Given the description of an element on the screen output the (x, y) to click on. 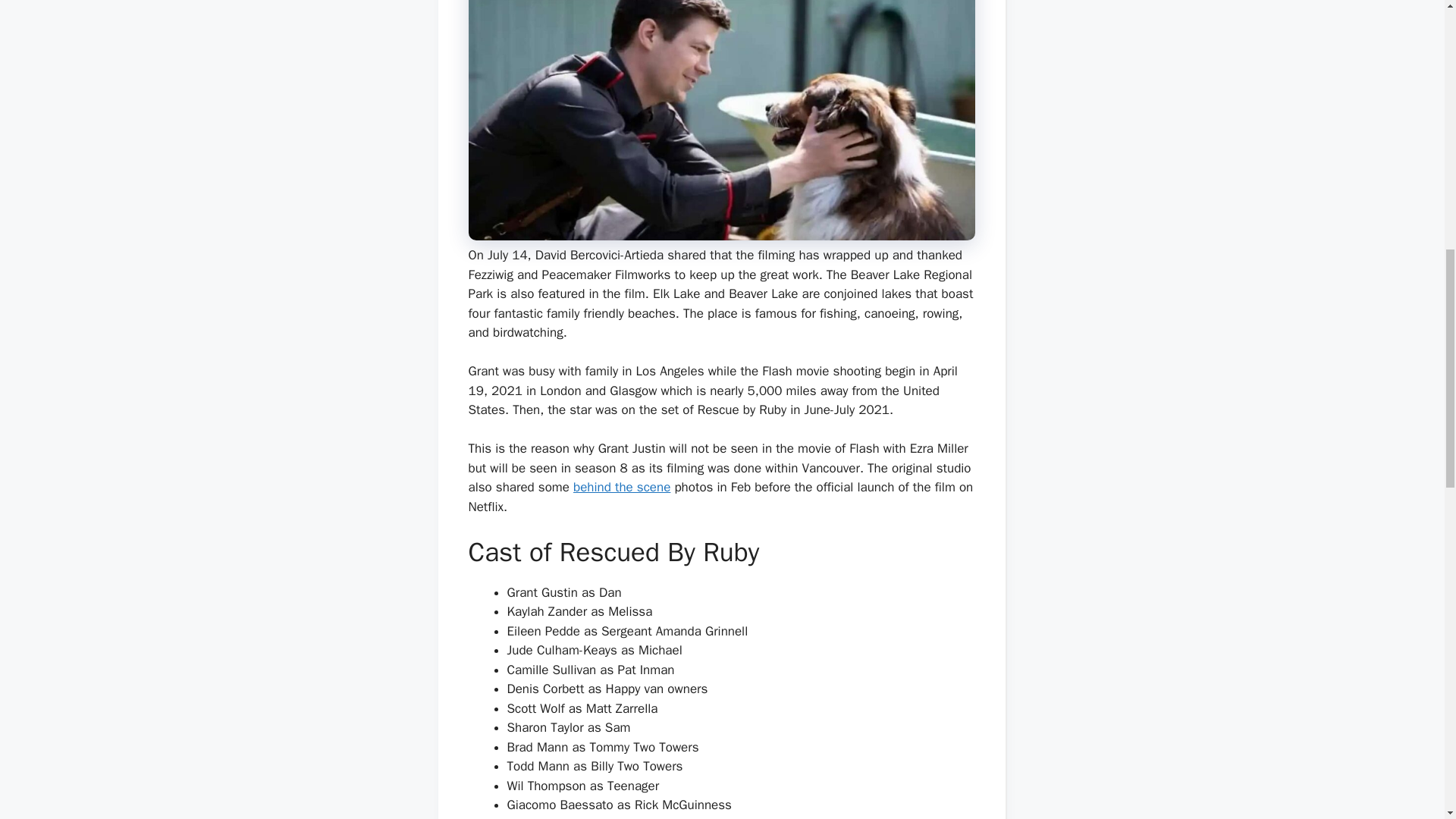
Where was Rescued by Ruby filmed? Netflix Cast Details (721, 120)
behind the scene (621, 487)
